Given the description of an element on the screen output the (x, y) to click on. 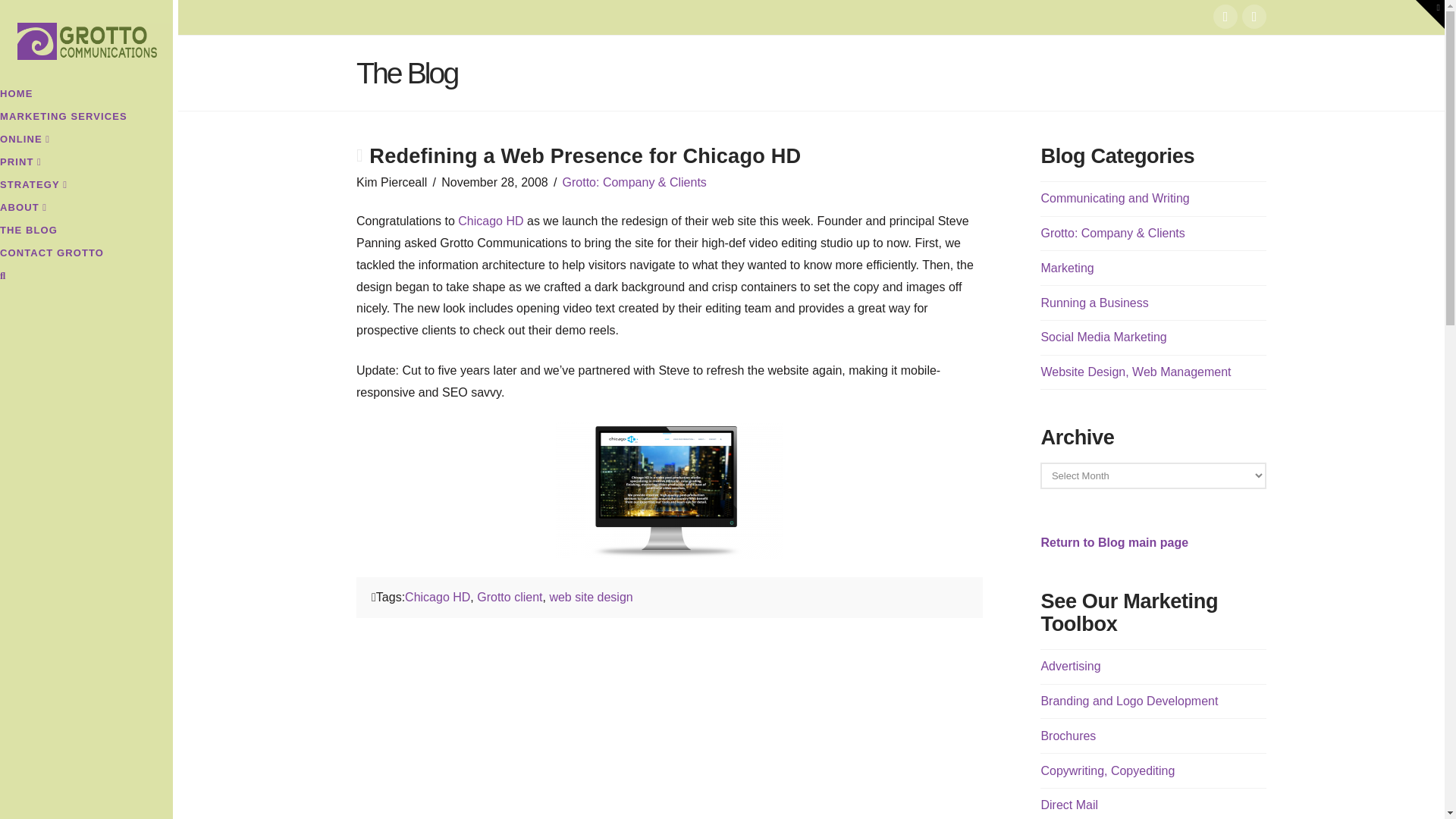
ONLINE (86, 140)
LinkedIn (1253, 16)
ABOUT (86, 209)
Facebook (1224, 16)
STRATEGY (86, 186)
CONTACT GROTTO (86, 254)
Chicago HD (490, 220)
MARKETING SERVICES (86, 118)
THE BLOG (86, 231)
HOME (86, 95)
PRINT (86, 163)
